Given the description of an element on the screen output the (x, y) to click on. 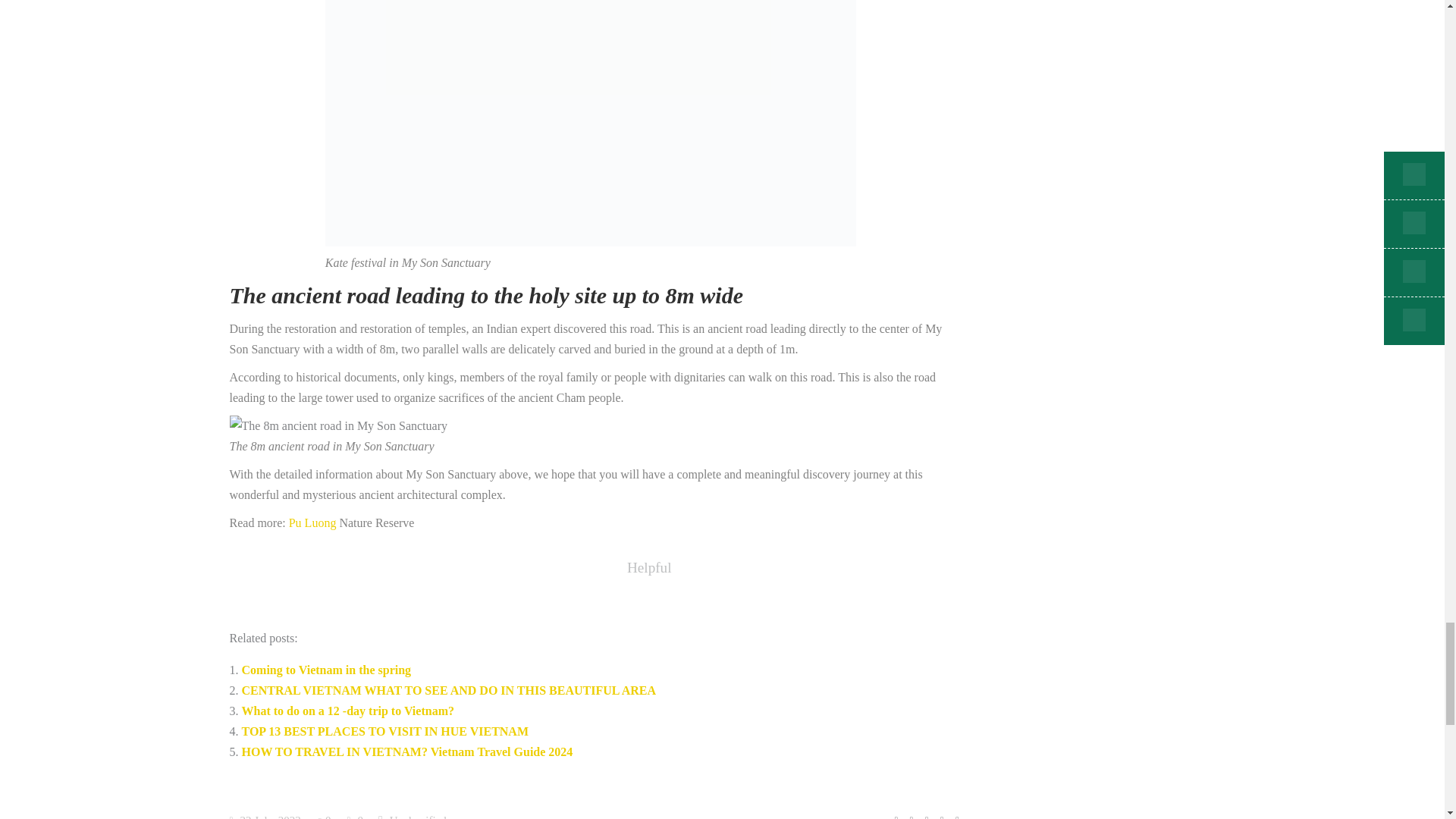
What to do on a 12 -day trip to Vietnam? (346, 710)
TOP 13 BEST PLACES TO VISIT IN HUE VIETNAM (384, 730)
Coming to Vietnam in the spring (325, 669)
HOW TO TRAVEL IN VIETNAM? Vietnam Travel Guide 2024 (406, 751)
Like this (326, 816)
MY SON SANCTUARY (337, 425)
What to do on a 12 -day trip to Vietnam? (346, 710)
CENTRAL VIETNAM WHAT TO SEE AND DO IN THIS BEAUTIFUL AREA (448, 689)
HOW TO TRAVEL IN VIETNAM? Vietnam Travel Guide 2024 (406, 751)
Coming to Vietnam in the spring (325, 669)
